Given the description of an element on the screen output the (x, y) to click on. 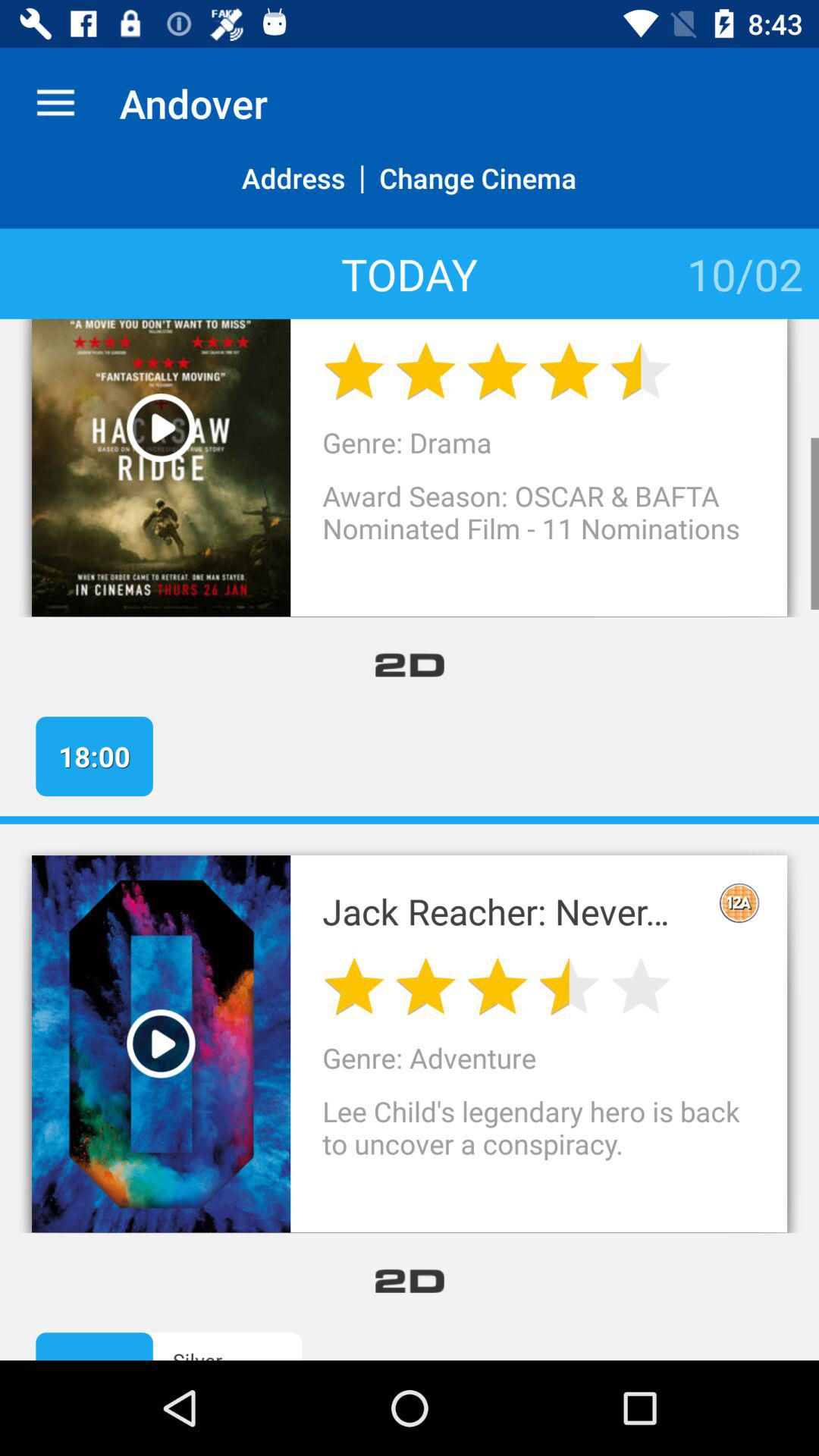
scroll until change cinema (477, 193)
